Given the description of an element on the screen output the (x, y) to click on. 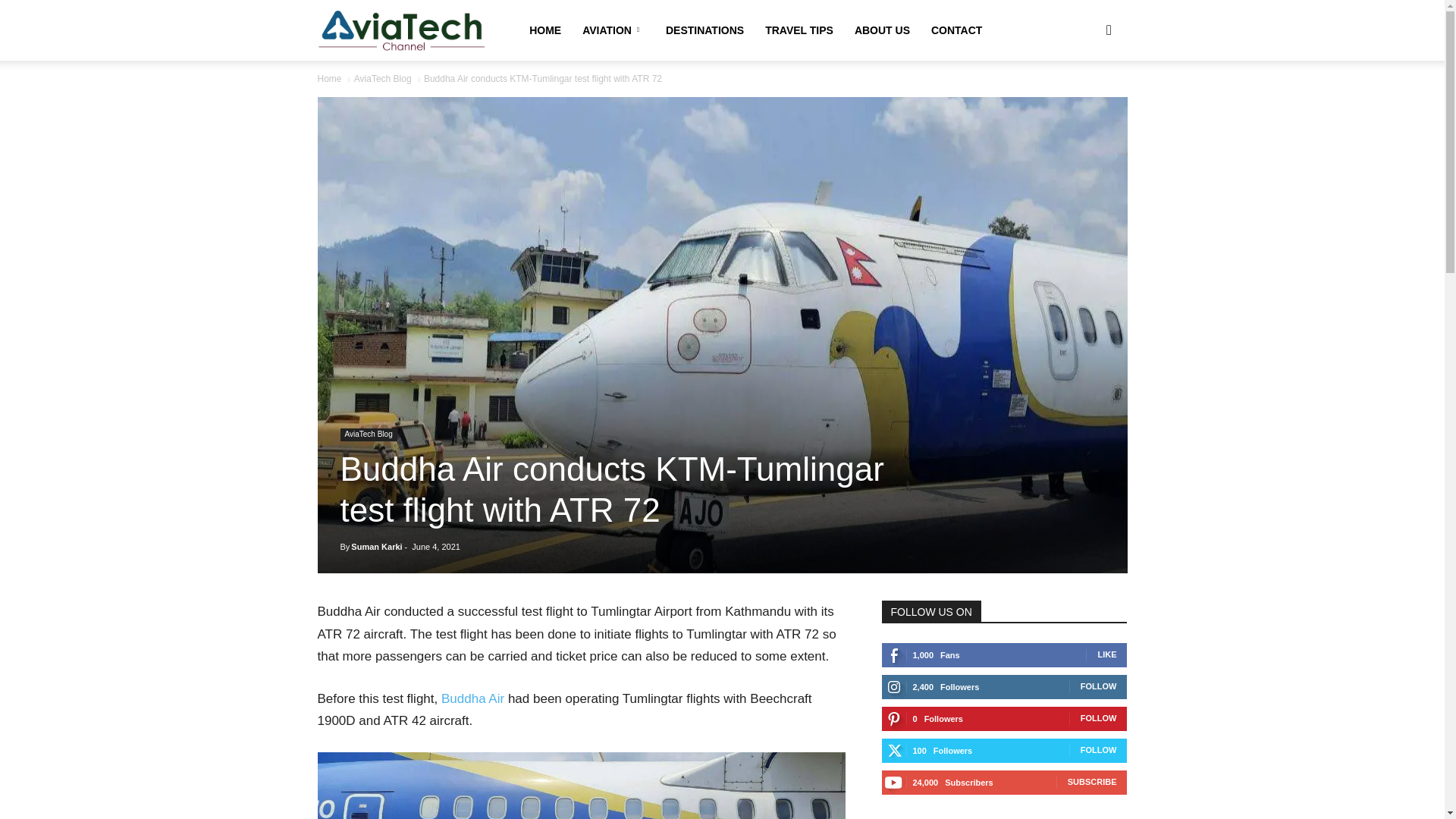
AviaTech Blog (367, 434)
buddha air atr 72 tumlingtar airport aviatechchannel (580, 785)
TRAVEL TIPS (799, 30)
Home (328, 78)
CONTACT (956, 30)
View all posts in AviaTech Blog (382, 78)
Search (1085, 102)
DESTINATIONS (704, 30)
AviaTech Channel (401, 30)
AVIATION (613, 30)
Suman Karki (375, 546)
ABOUT US (882, 30)
Buddha Air (472, 698)
AviaTech Blog (382, 78)
